Given the description of an element on the screen output the (x, y) to click on. 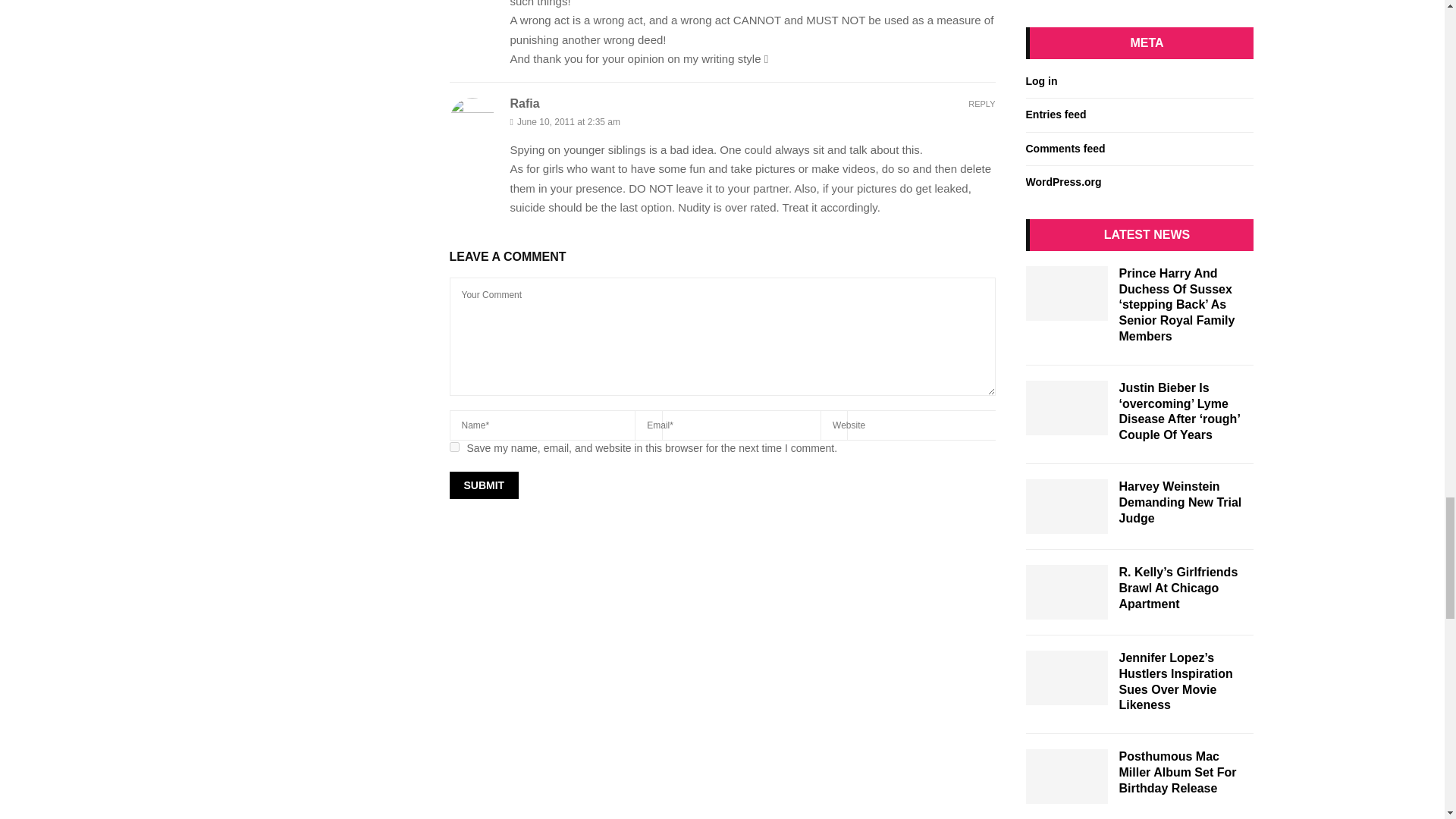
yes (453, 447)
Submit (483, 484)
